Given the description of an element on the screen output the (x, y) to click on. 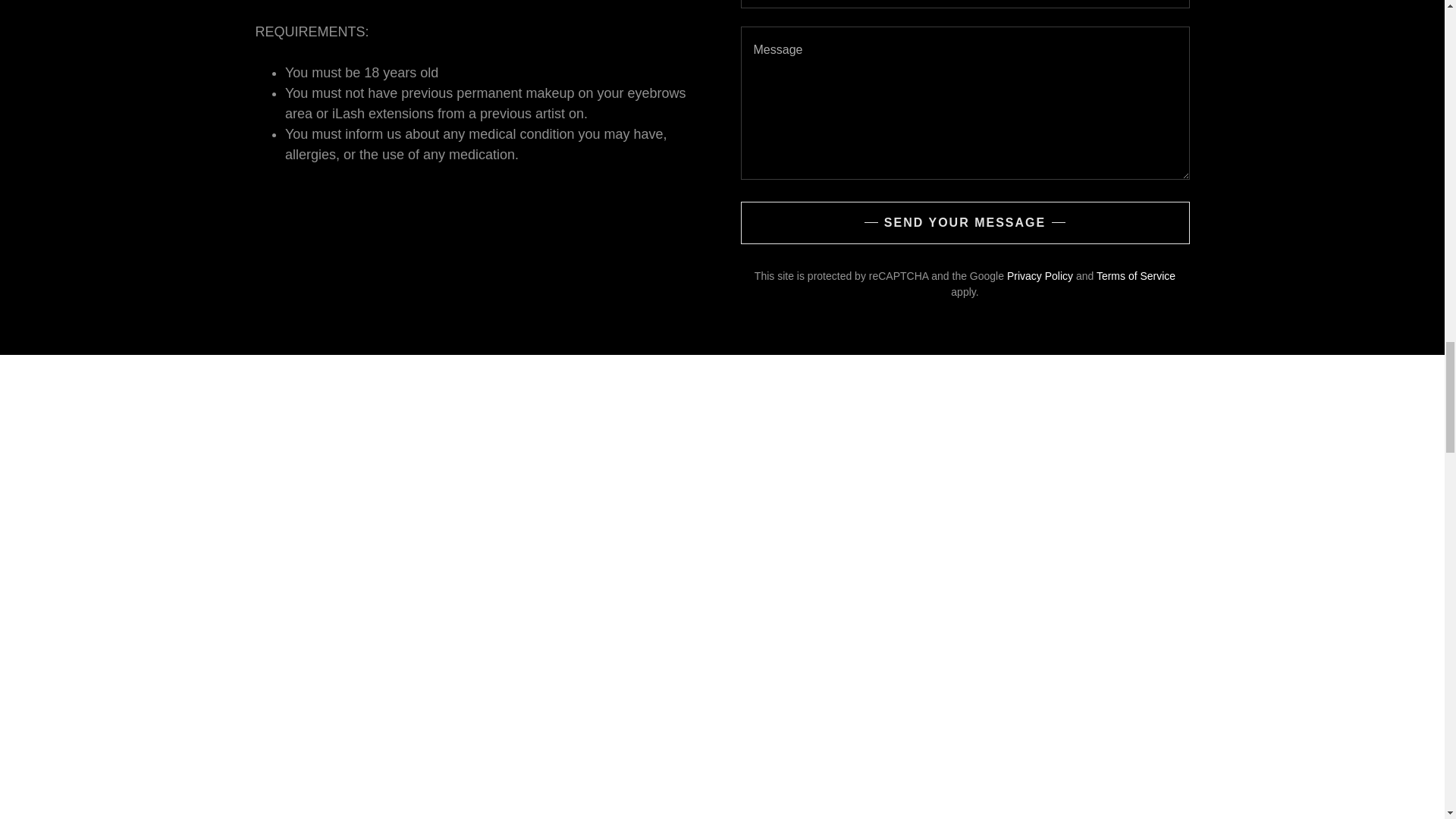
SEND YOUR MESSAGE (964, 222)
Privacy Policy (1040, 275)
Terms of Service (1135, 275)
